Given the description of an element on the screen output the (x, y) to click on. 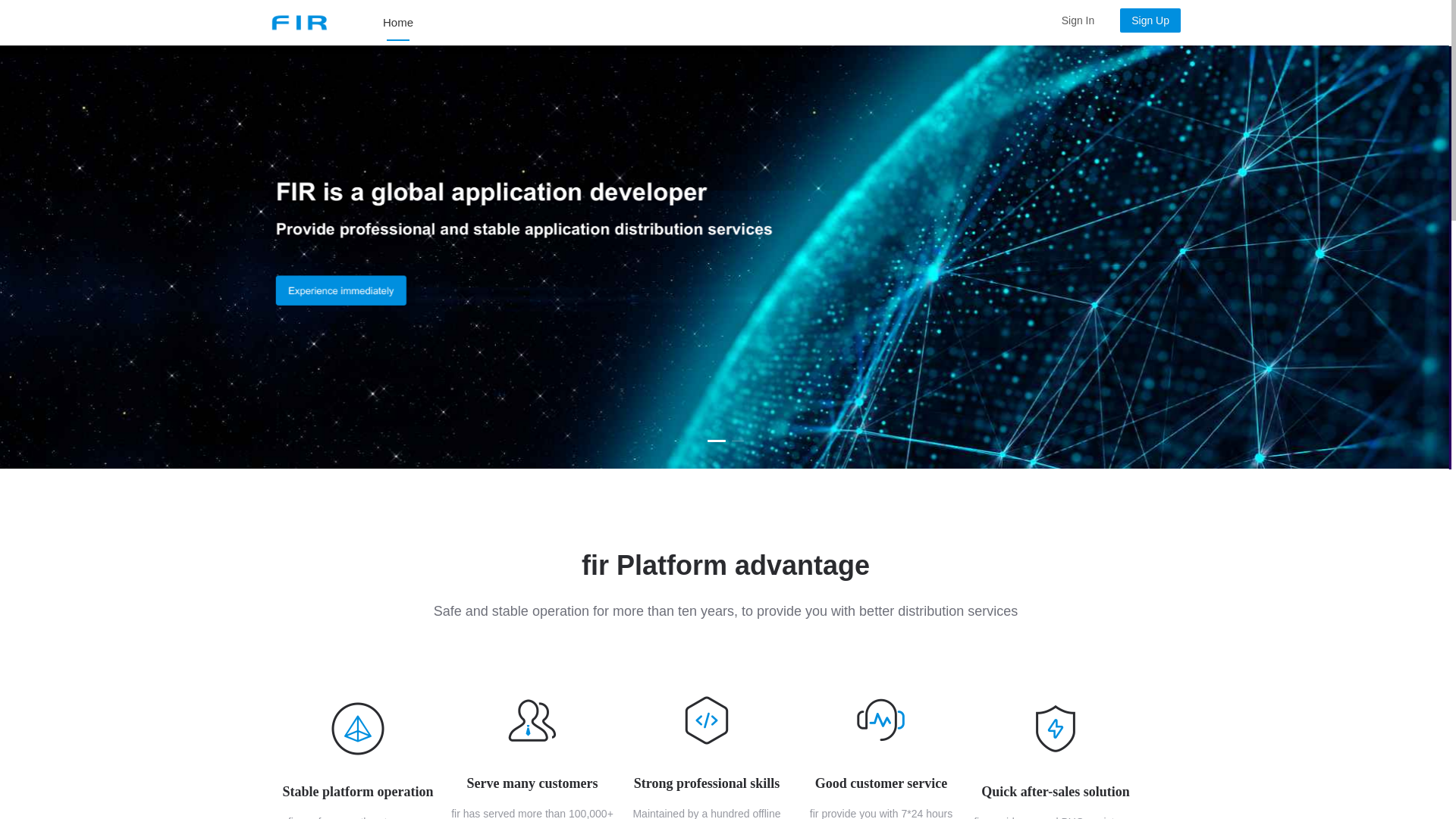
Sign Up Element type: text (1150, 20)
Sign Up Element type: text (1144, 20)
Home Element type: text (410, 22)
Sign In Element type: text (1078, 20)
